Given the description of an element on the screen output the (x, y) to click on. 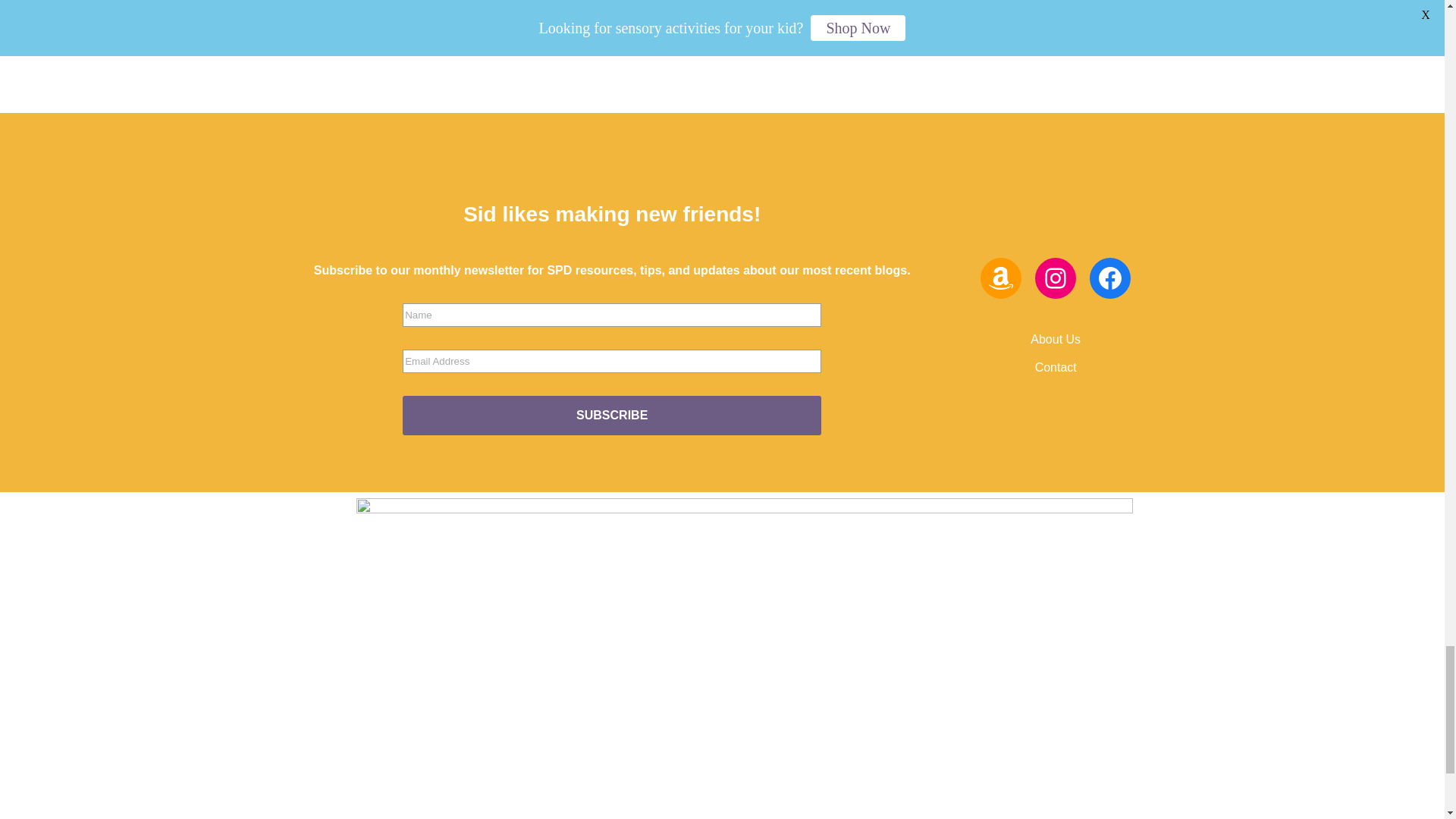
SUBSCRIBE (612, 414)
